Given the description of an element on the screen output the (x, y) to click on. 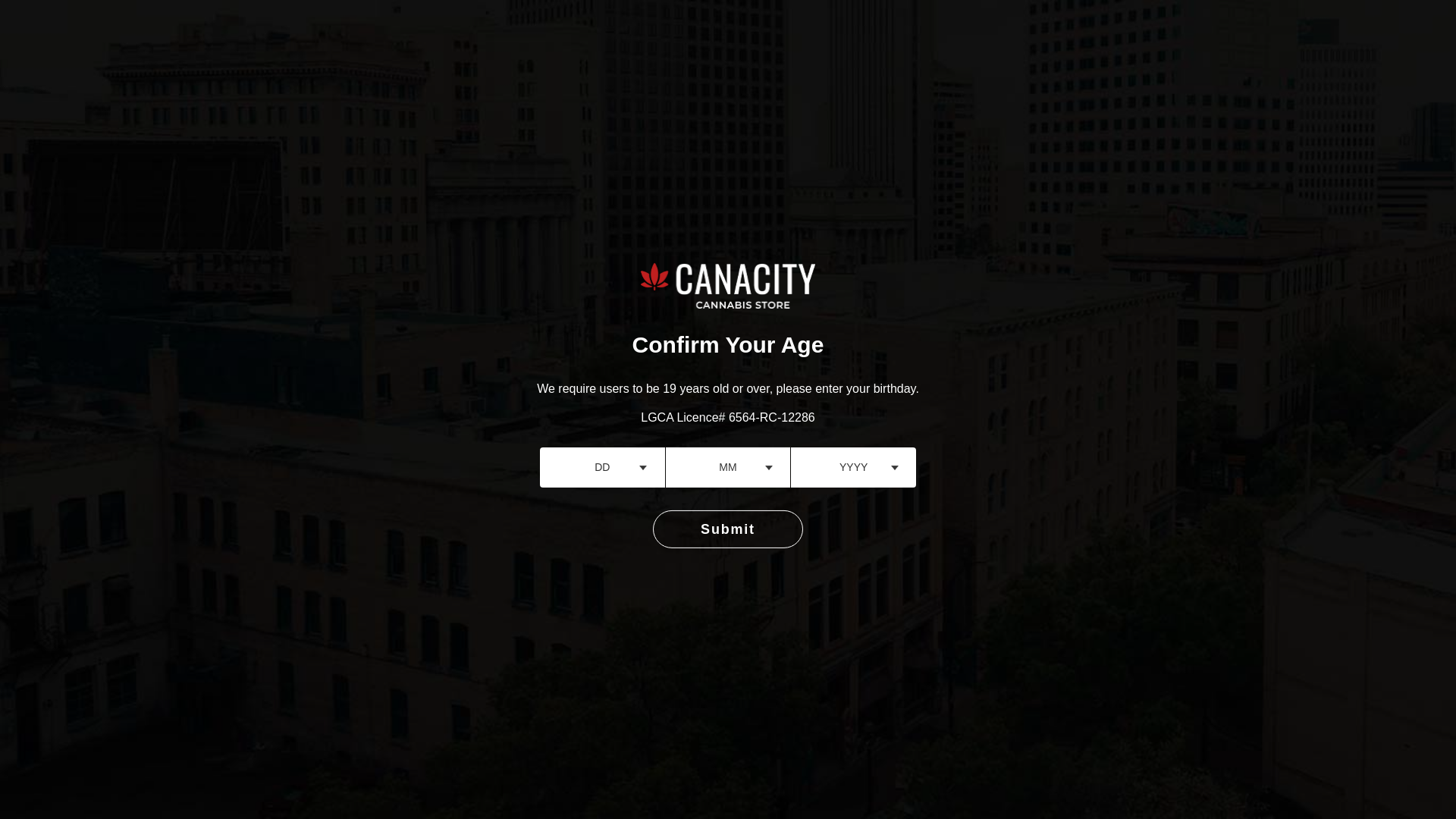
CANNABIS DELIVERY WINNIPEG (921, 32)
Cannabis Spirituality Insights (826, 586)
ABOUT (1117, 32)
BLOG (1224, 32)
SHOP (1055, 32)
0 Comments (951, 586)
FAQ (1173, 32)
